Given the description of an element on the screen output the (x, y) to click on. 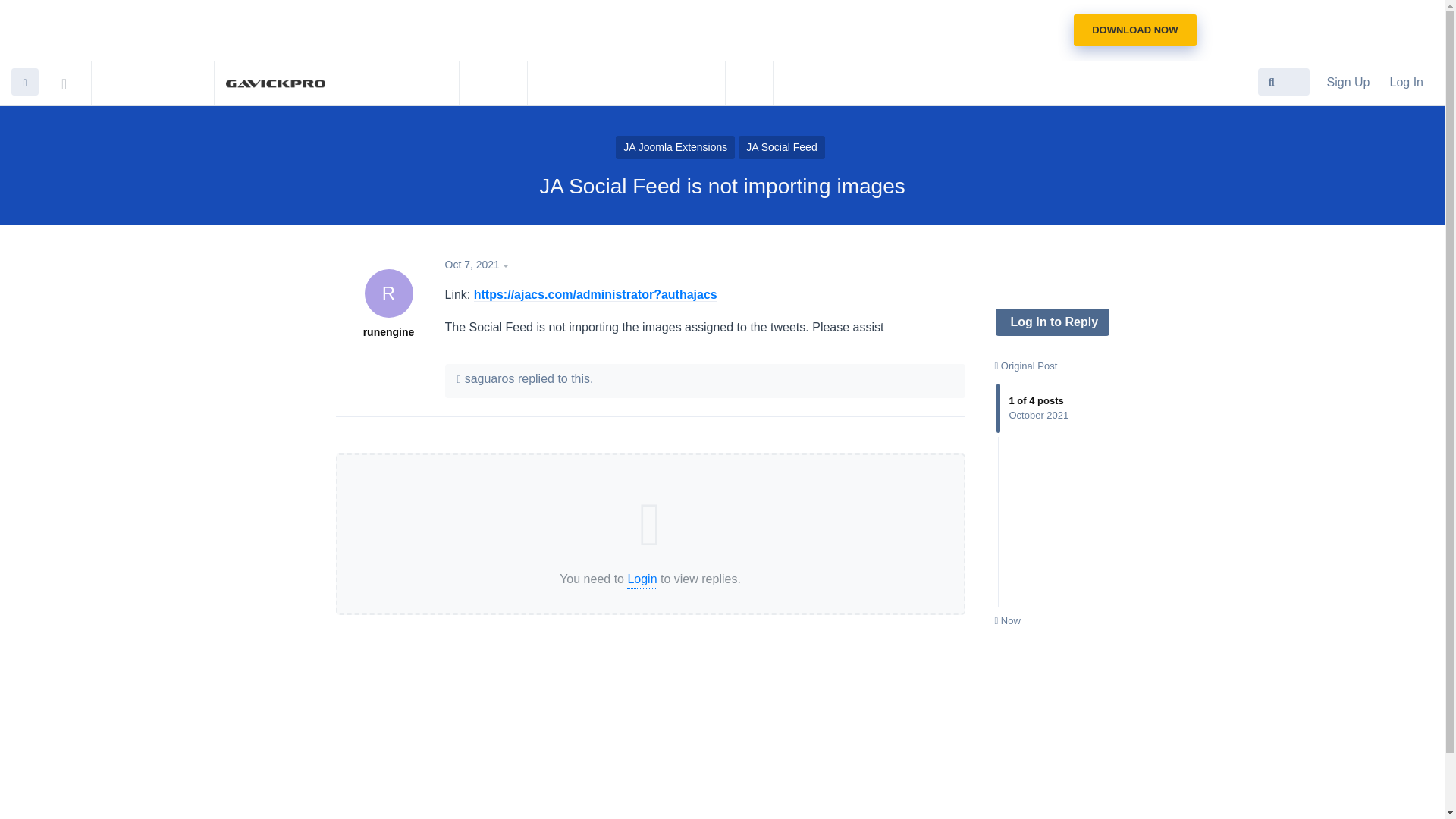
DTH Development Homepage (749, 82)
DOWNLOAD NOW (1134, 29)
IJOOMLA (575, 82)
Now (1053, 492)
Oct 7, 2021 (1007, 619)
JOOMLART (478, 264)
Sign Up (152, 82)
JoomlaBamboo Homepage (1348, 81)
Original Post (398, 82)
Support Central (1026, 365)
Log In to Reply (387, 304)
iJoomla Homepage (74, 80)
JOMSOCIAL (1051, 321)
